Given the description of an element on the screen output the (x, y) to click on. 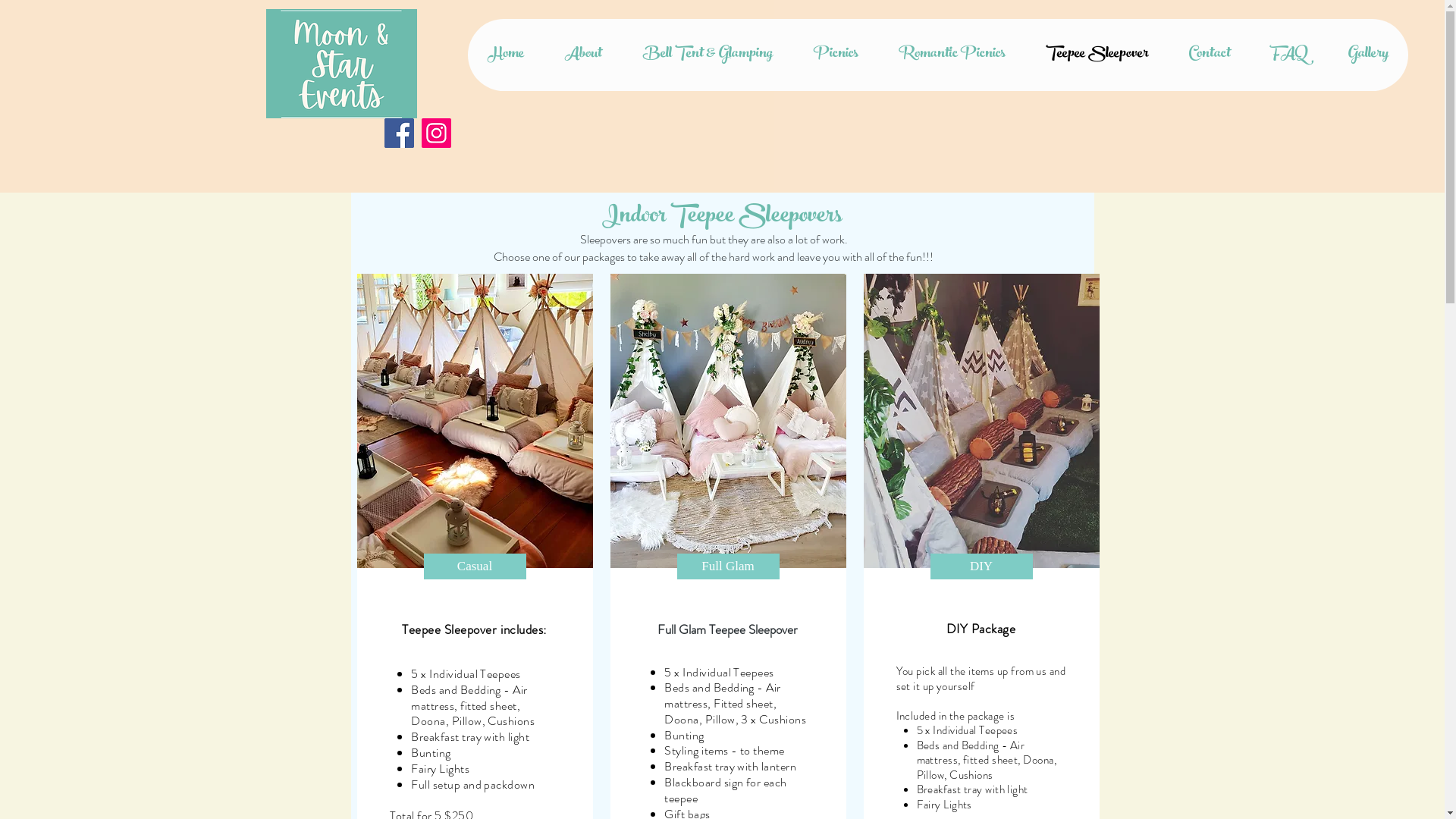
FAQ Element type: text (1288, 54)
Romantic Picnics Element type: text (951, 54)
Gallery Element type: text (1367, 54)
Contact Element type: text (1208, 54)
Picnics Element type: text (835, 54)
About Element type: text (582, 54)
Teepee Sleepover Element type: text (1096, 54)
Bell Tent & Glamping Element type: text (706, 54)
Home Element type: text (505, 54)
